Given the description of an element on the screen output the (x, y) to click on. 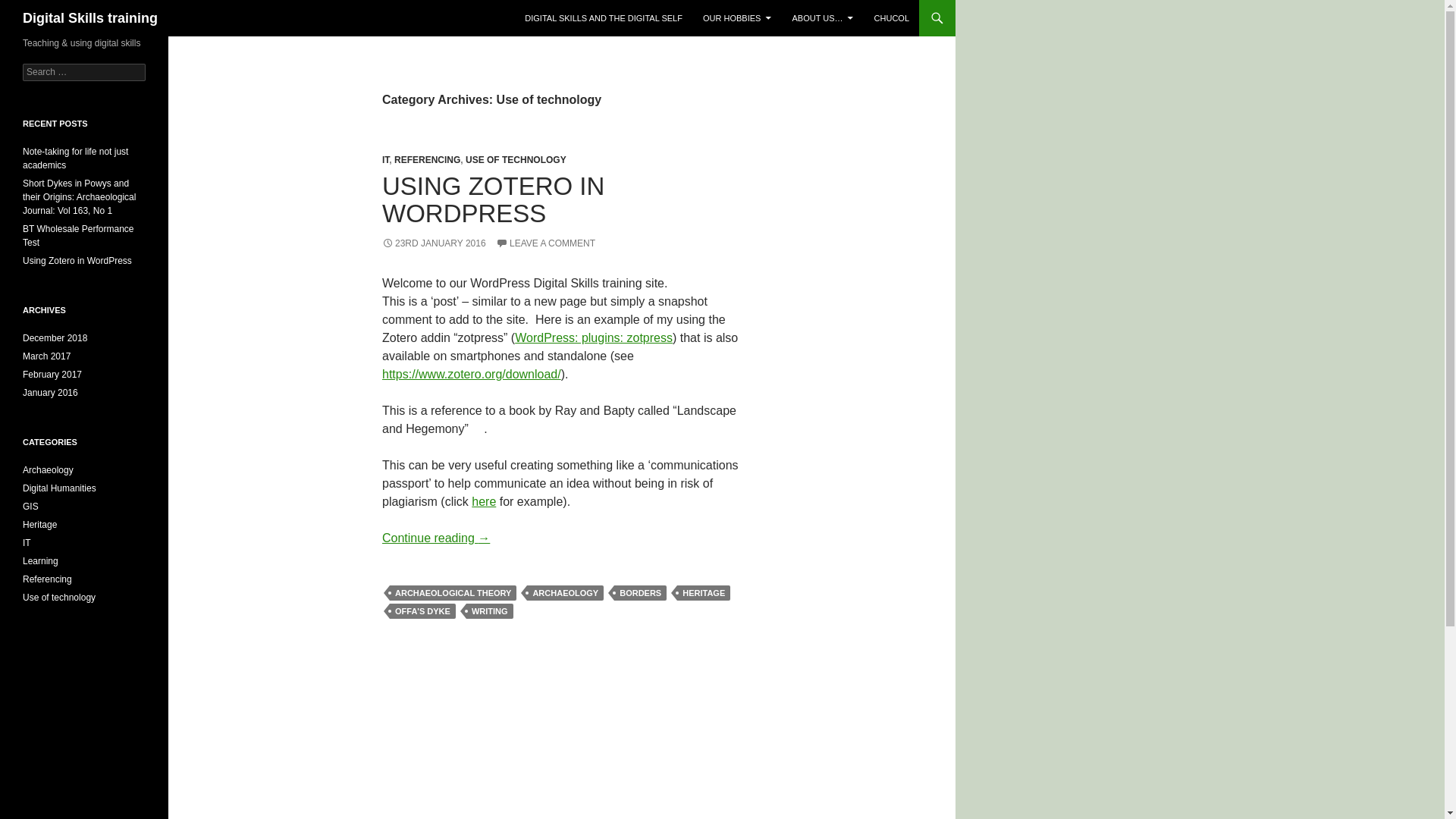
here (483, 501)
BORDERS (640, 592)
REFERENCING (427, 159)
Digital Skills training (90, 18)
ARCHAEOLOGY (565, 592)
LEAVE A COMMENT (545, 243)
23RD JANUARY 2016 (433, 243)
OFFA'S DYKE (422, 611)
CHUCOL (891, 18)
WordPress: plugins: zotpress (593, 337)
